Given the description of an element on the screen output the (x, y) to click on. 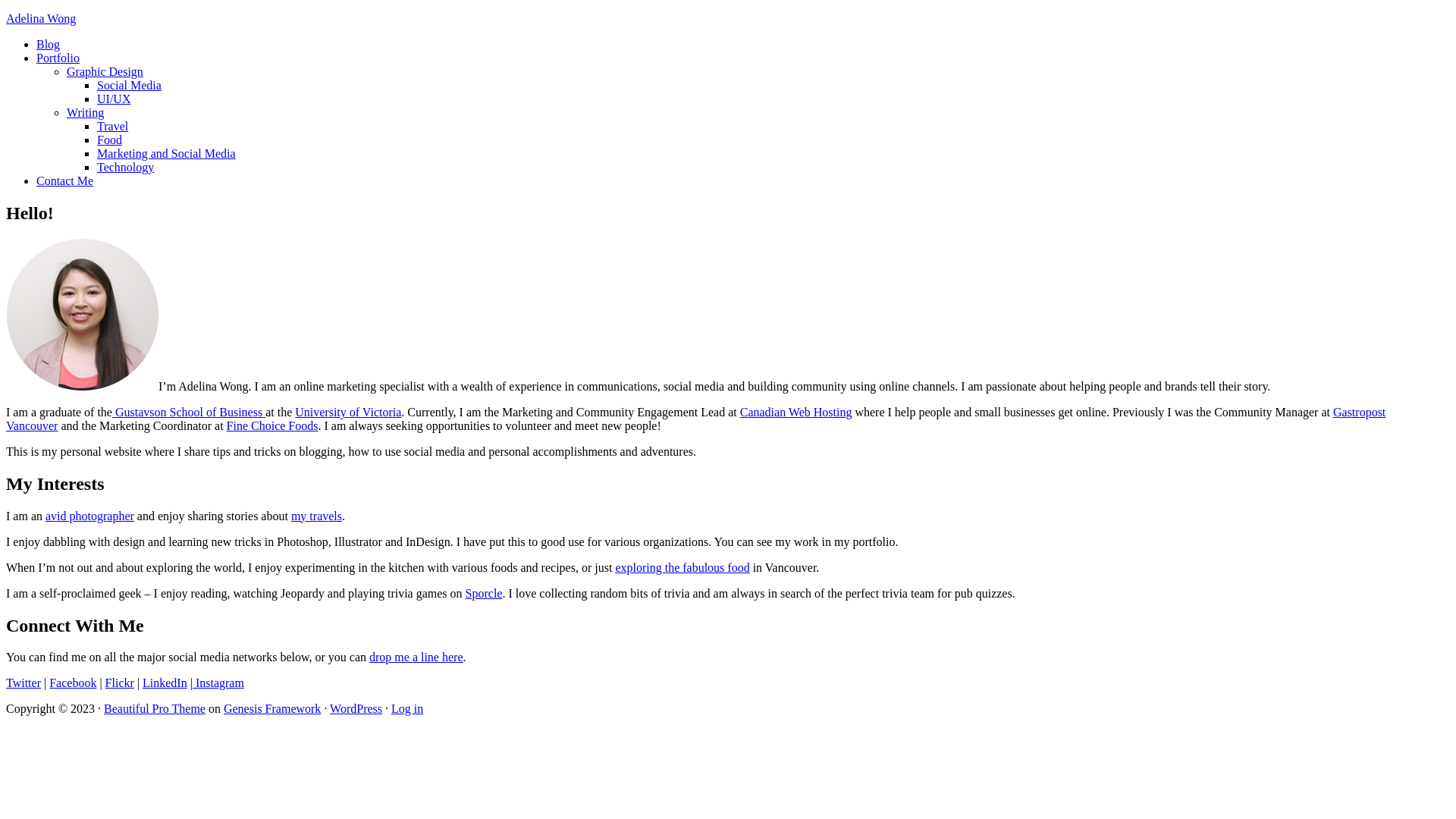
Facebook Element type: text (72, 682)
Canadian Web Hosting Element type: text (796, 411)
Marketing and Social Media Element type: text (166, 153)
Blog Element type: text (47, 43)
my travels Element type: text (316, 515)
Sporcle Element type: text (483, 592)
Travel Element type: text (112, 125)
UI/UX Element type: text (113, 98)
Gastropost Vancouver Element type: text (695, 418)
Adelina Wong Element type: text (40, 18)
drop me a line here Element type: text (416, 656)
Contact Me Element type: text (64, 180)
Fine Choice Foods Element type: text (272, 425)
Graphic Design Element type: text (104, 71)
LinkedIn Element type: text (164, 682)
Writing Element type: text (84, 112)
Twitter Element type: text (23, 682)
Technology Element type: text (125, 166)
Instagram Element type: text (218, 682)
Portfolio Element type: text (57, 57)
Flickr Element type: text (119, 682)
Log in Element type: text (407, 708)
avid photographer Element type: text (89, 515)
Beautiful Pro Theme Element type: text (154, 708)
University of Victoria Element type: text (347, 411)
Food Element type: text (109, 139)
Genesis Framework Element type: text (271, 708)
Social Media Element type: text (129, 84)
WordPress Element type: text (355, 708)
exploring the fabulous food Element type: text (682, 567)
Gustavson School of Business Element type: text (188, 411)
